Given the description of an element on the screen output the (x, y) to click on. 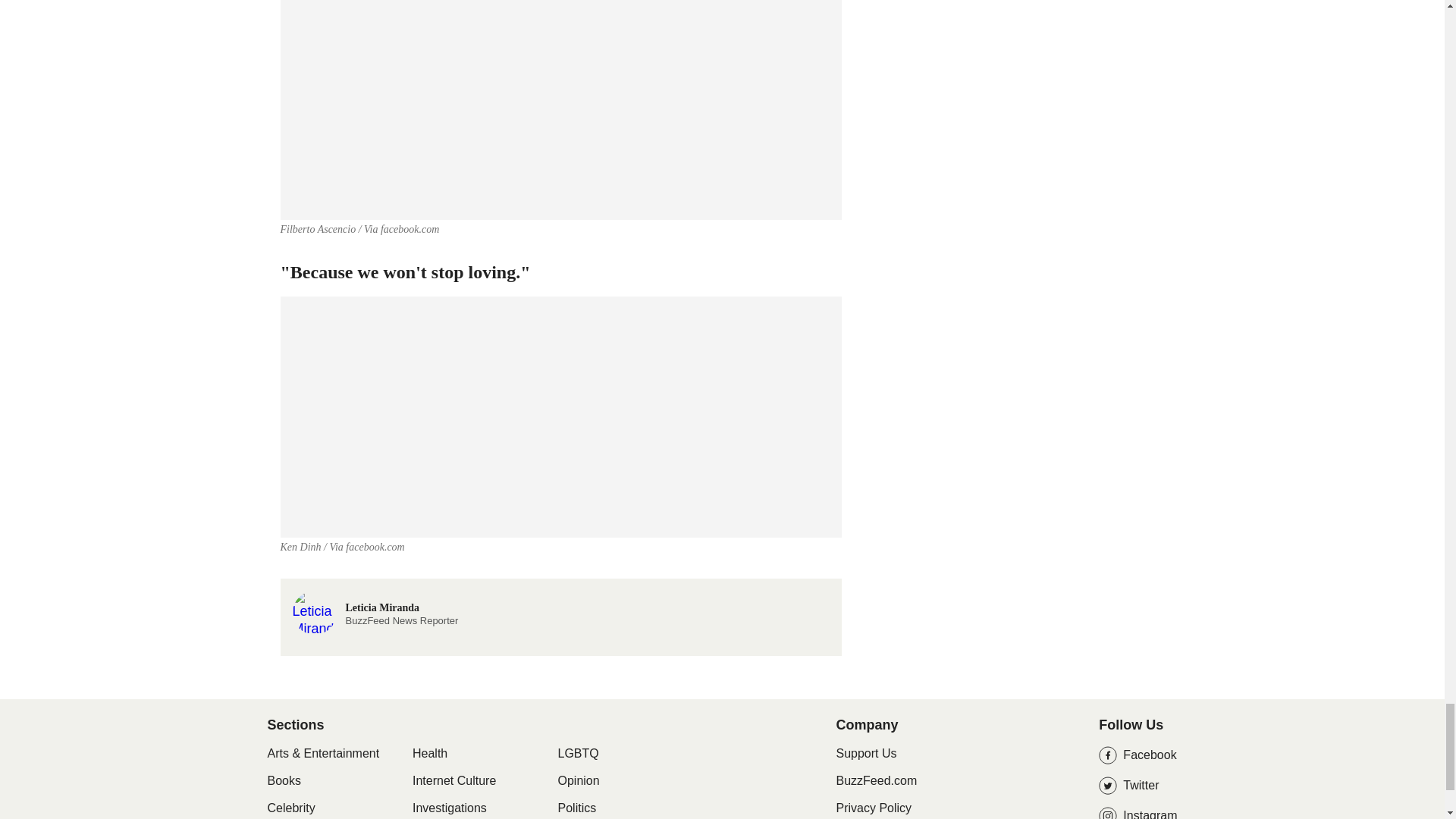
facebook.com (375, 546)
Celebrity (290, 807)
Health (429, 753)
LGBTQ (577, 753)
Investigations (449, 807)
Support Us (375, 611)
facebook.com (865, 753)
Books (409, 229)
Politics (282, 780)
